Given the description of an element on the screen output the (x, y) to click on. 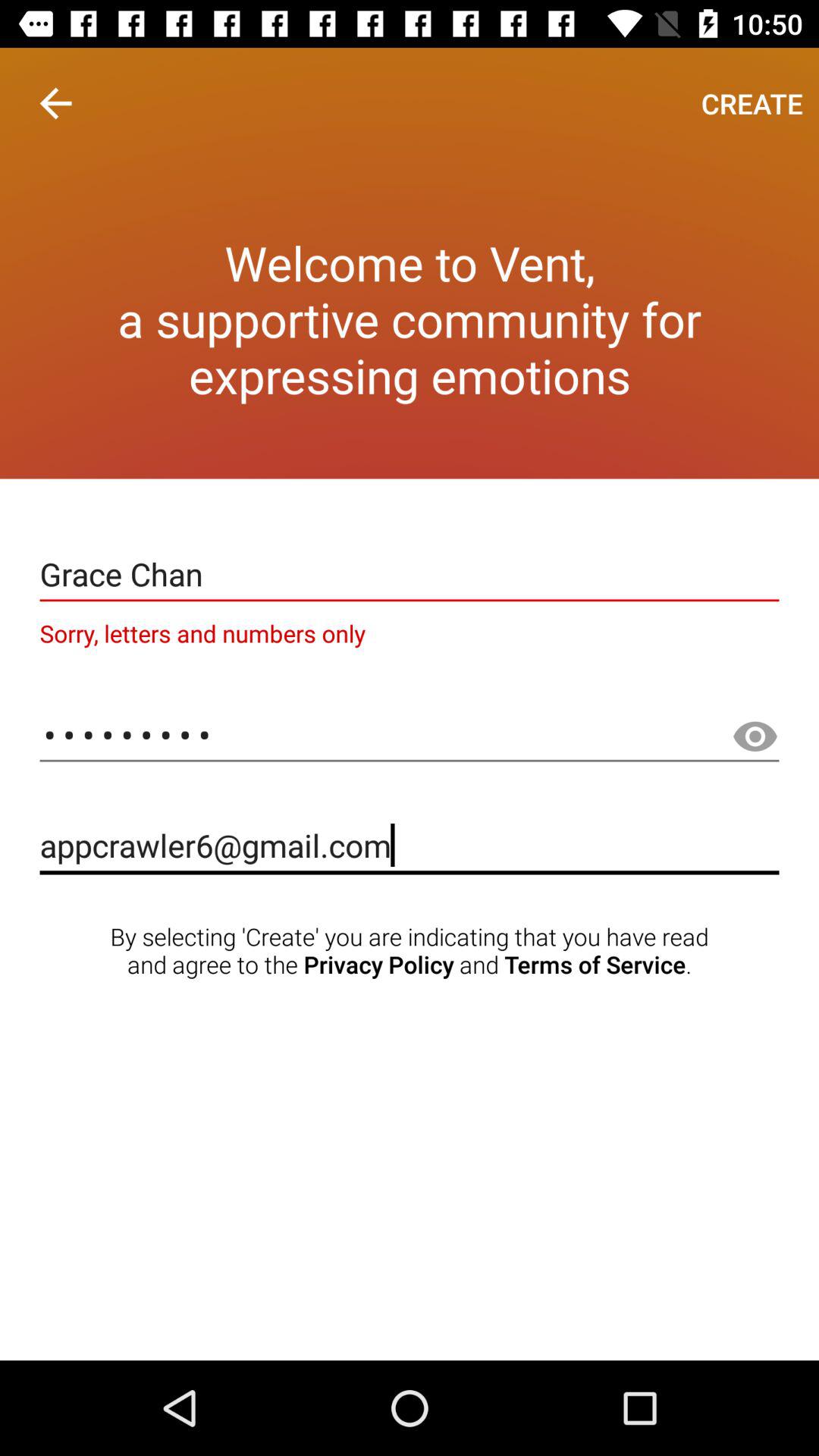
make password visible button (755, 737)
